Given the description of an element on the screen output the (x, y) to click on. 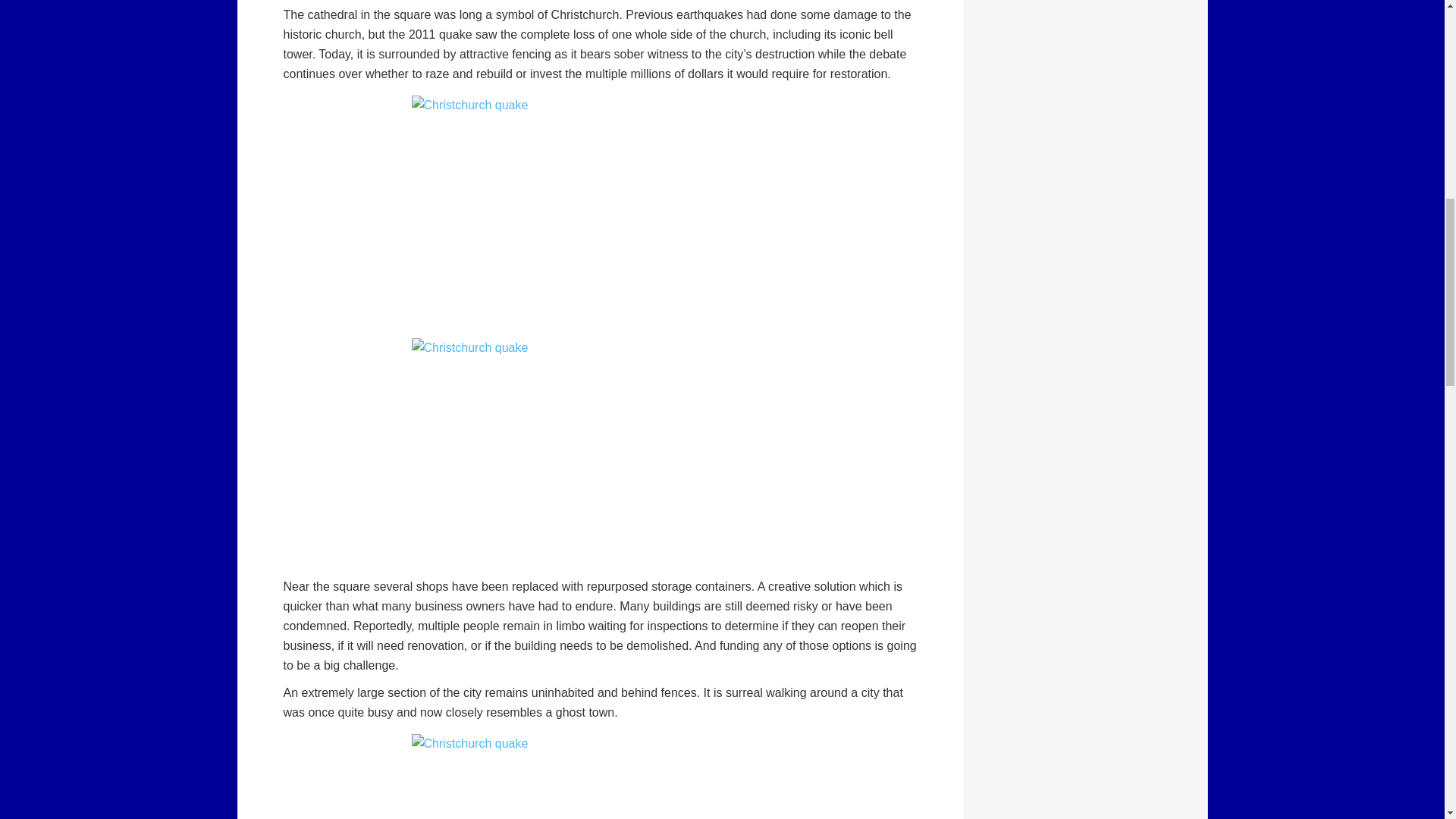
Cathedral (600, 208)
Container city (600, 776)
Cathedral image (600, 451)
